Given the description of an element on the screen output the (x, y) to click on. 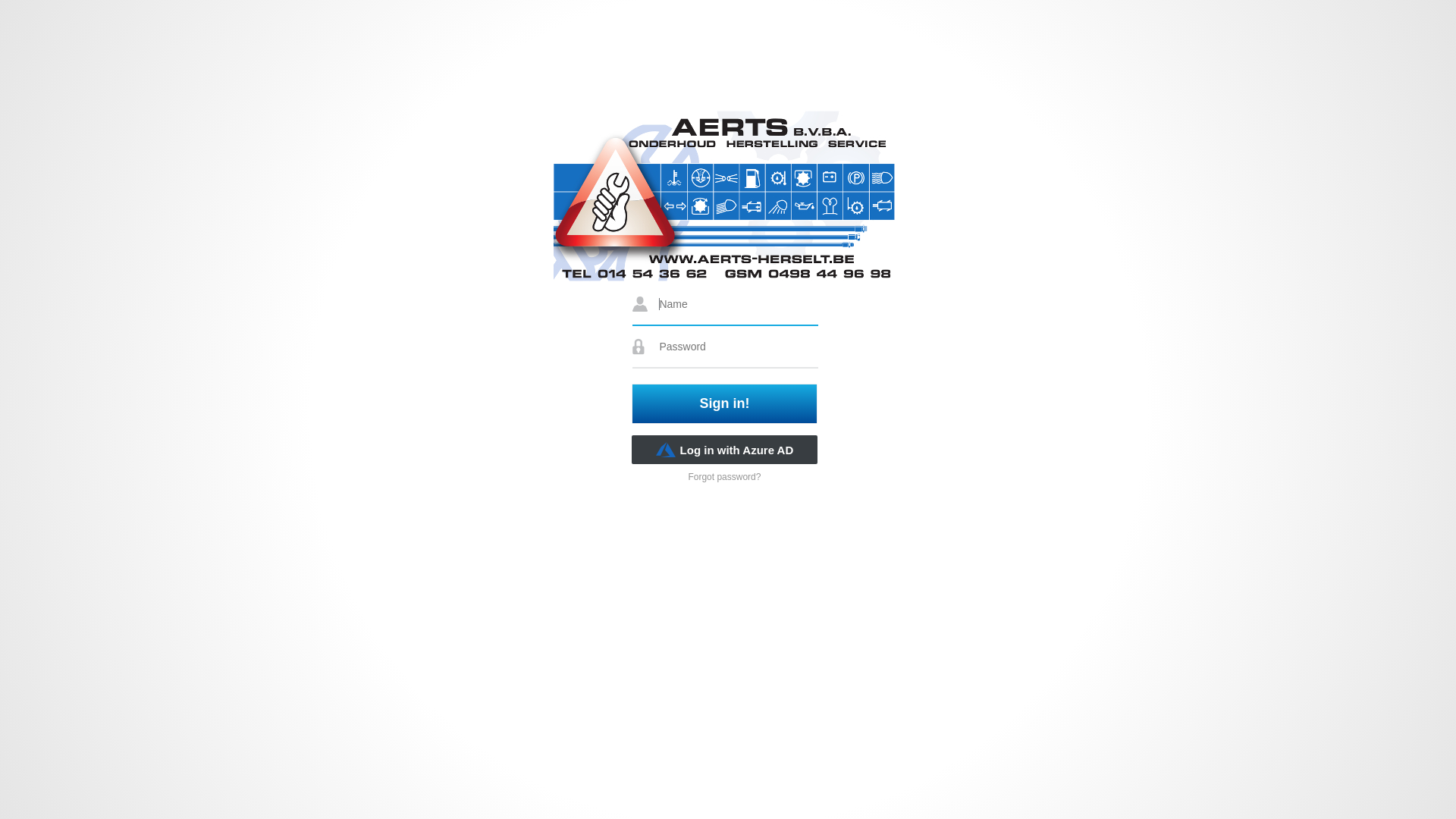
Sign in! Element type: text (724, 403)
Forgot password? Element type: text (723, 476)
Log in with Azure AD Element type: text (724, 449)
